Given the description of an element on the screen output the (x, y) to click on. 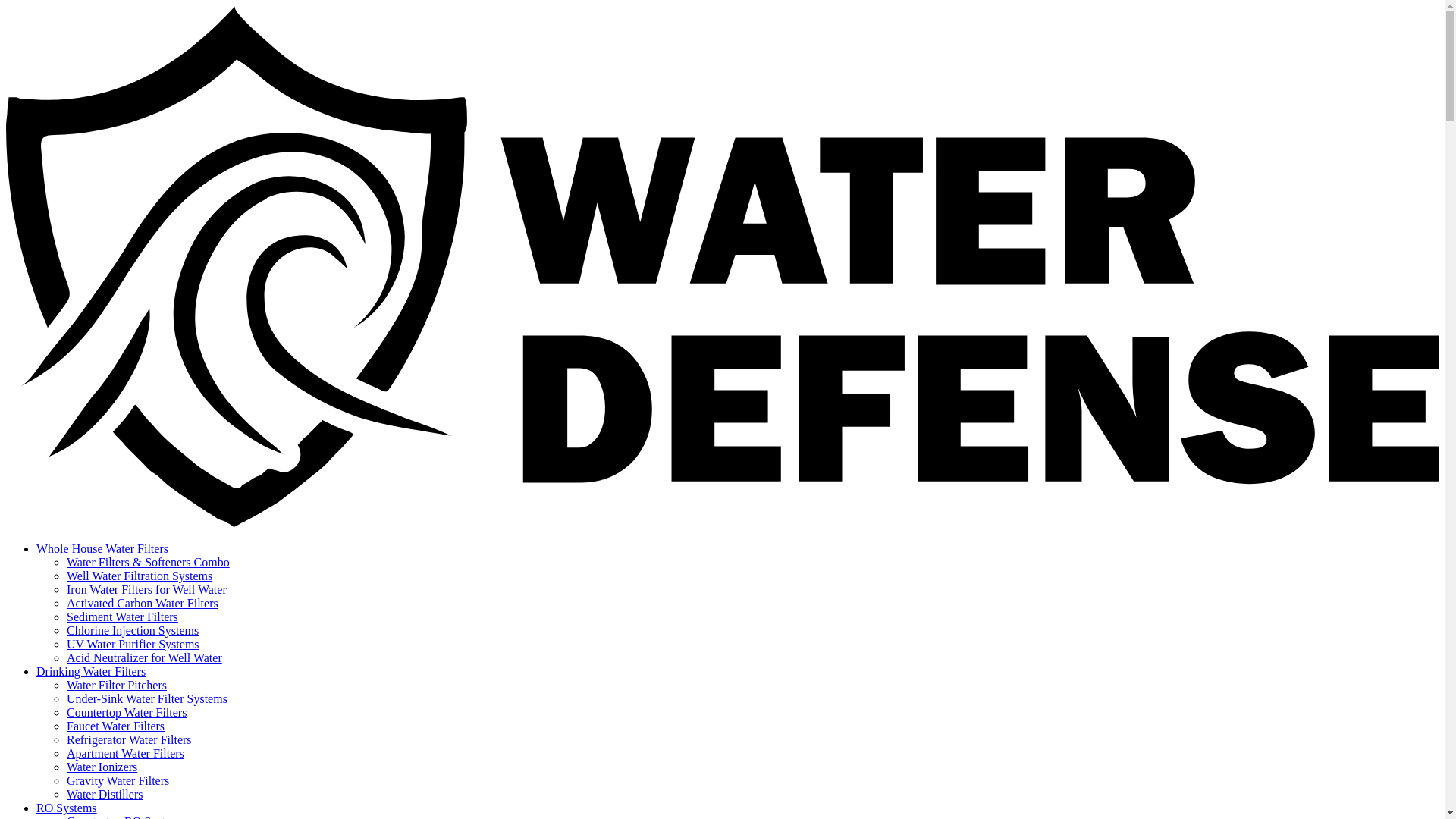
Gravity Water Filters (117, 780)
Acid Neutralizer for Well Water (144, 657)
Under-Sink Water Filter Systems (146, 698)
Water Filter Pitchers (116, 684)
Drinking Water Filters (90, 671)
Chlorine Injection Systems (132, 630)
UV Water Purifier Systems (132, 644)
Water Ionizers (101, 766)
Refrigerator Water Filters (129, 739)
Countertop Water Filters (126, 712)
Faucet Water Filters (115, 725)
Well Water Filtration Systems (139, 575)
Activated Carbon Water Filters (142, 603)
Countertop RO Systems (125, 816)
Sediment Water Filters (121, 616)
